Given the description of an element on the screen output the (x, y) to click on. 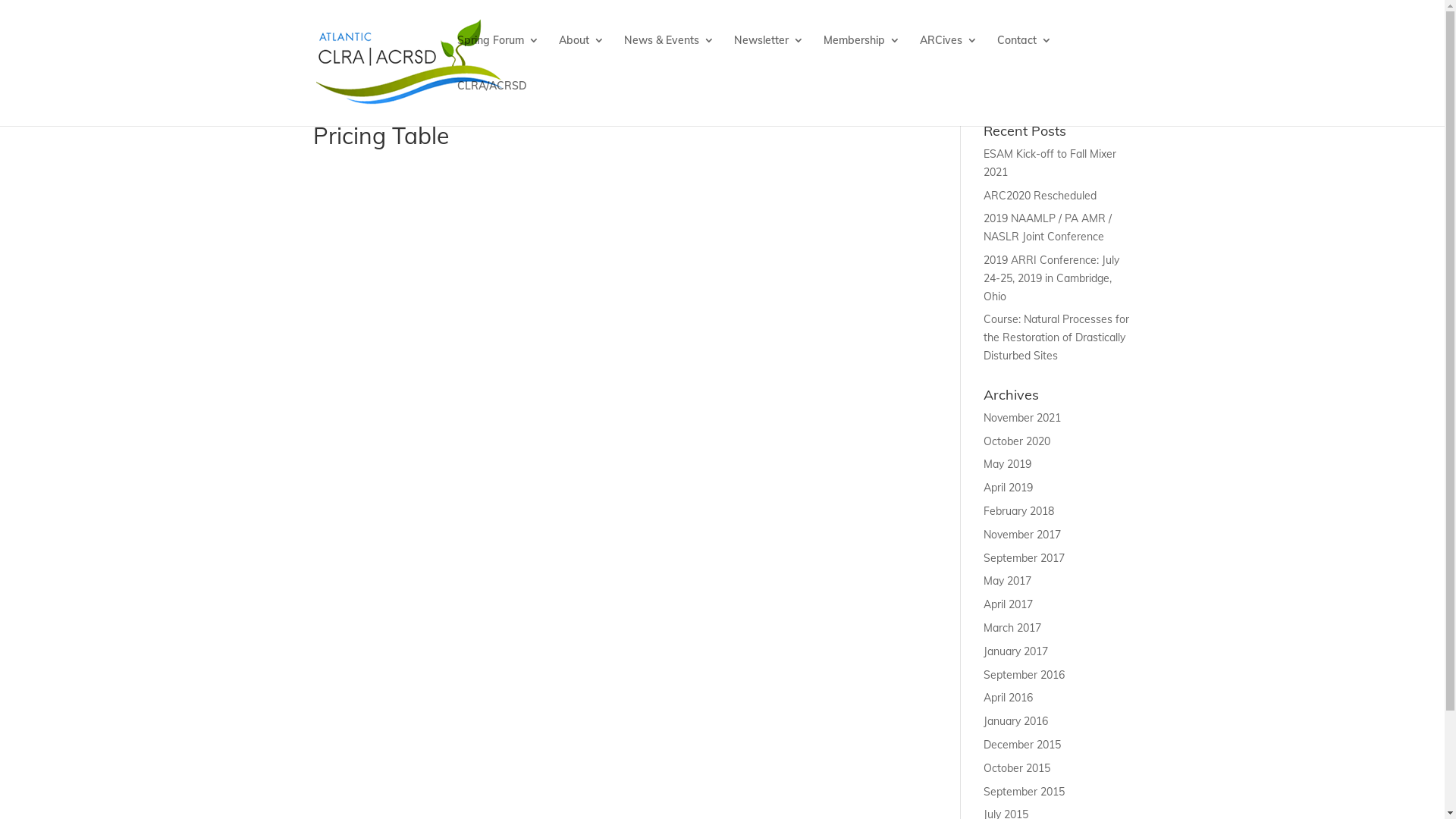
2019 ARRI Conference: July 24-25, 2019 in Cambridge, Ohio Element type: text (1051, 278)
Spring Forum Element type: text (497, 57)
September 2016 Element type: text (1023, 674)
January 2017 Element type: text (1015, 651)
ARCives Element type: text (947, 57)
April 2019 Element type: text (1007, 487)
March 2017 Element type: text (1012, 627)
News & Events Element type: text (668, 57)
May 2017 Element type: text (1007, 580)
Contact Element type: text (1023, 57)
September 2017 Element type: text (1023, 557)
April 2017 Element type: text (1007, 604)
October 2020 Element type: text (1016, 441)
October 2015 Element type: text (1016, 768)
November 2017 Element type: text (1021, 534)
January 2016 Element type: text (1015, 721)
September 2015 Element type: text (1023, 791)
ARC2020 Rescheduled Element type: text (1039, 195)
CLRA/ACRSD Element type: text (491, 102)
Membership Element type: text (861, 57)
February 2018 Element type: text (1018, 510)
About Element type: text (580, 57)
April 2016 Element type: text (1007, 697)
ESAM Kick-off to Fall Mixer 2021 Element type: text (1049, 162)
May 2019 Element type: text (1007, 463)
December 2015 Element type: text (1021, 744)
2019 NAAMLP / PA AMR / NASLR Joint Conference Element type: text (1047, 227)
Newsletter Element type: text (768, 57)
November 2021 Element type: text (1021, 417)
